Given the description of an element on the screen output the (x, y) to click on. 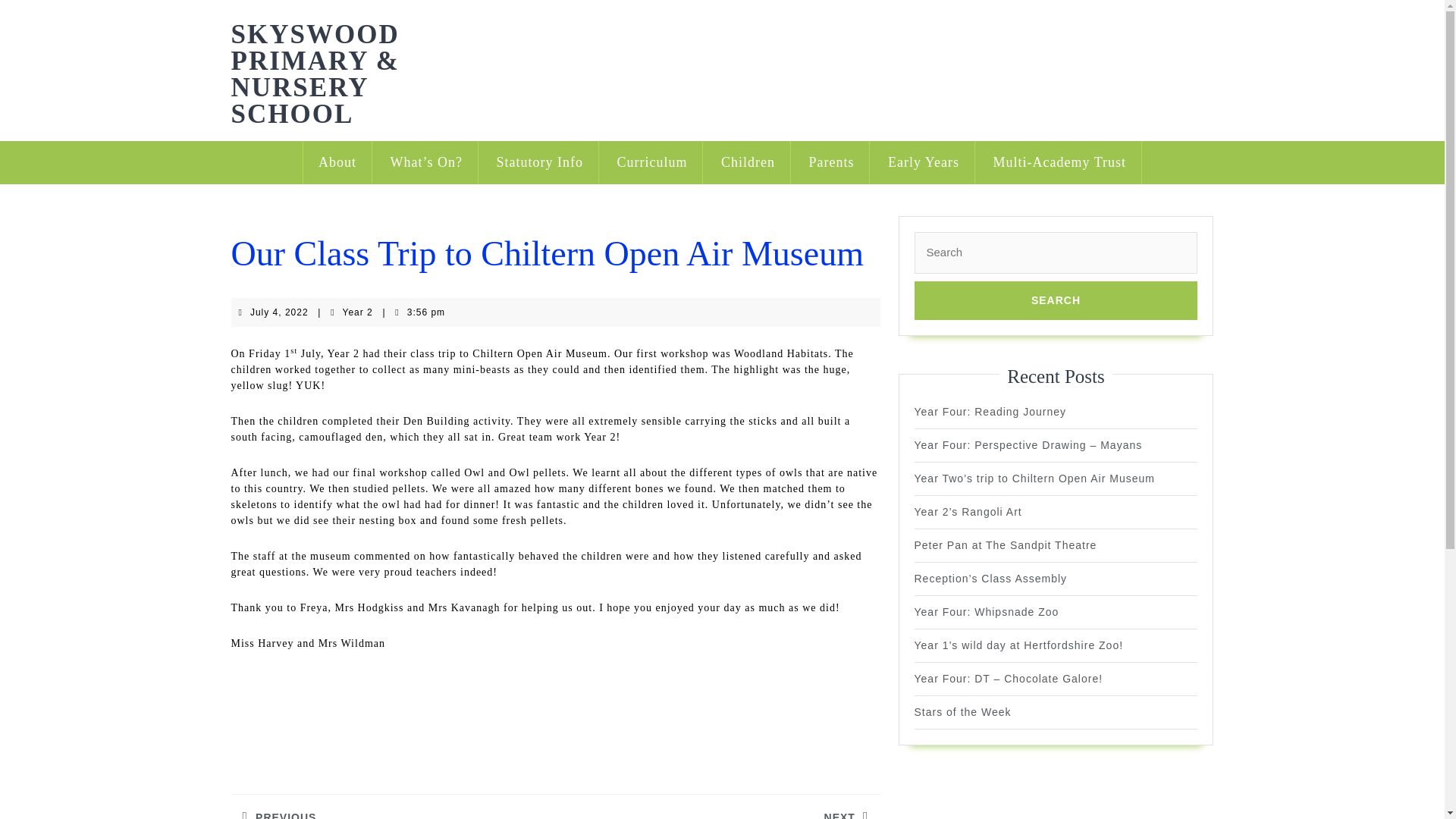
About (337, 162)
Curriculum (652, 162)
Search (1056, 299)
Search (1056, 299)
Statutory Info (539, 162)
